Given the description of an element on the screen output the (x, y) to click on. 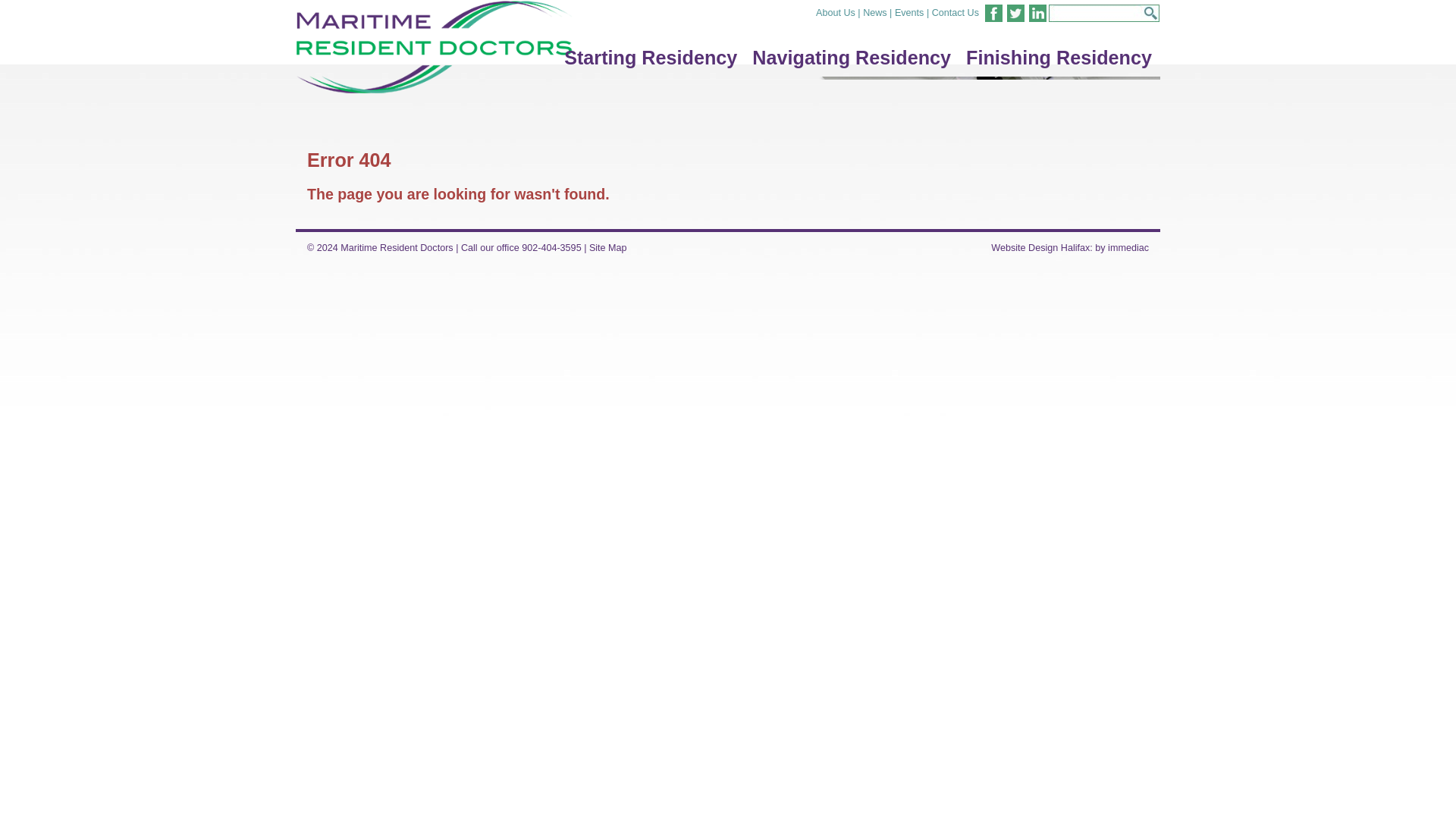
About Us (835, 12)
Events (909, 12)
Website Design Halifax (1040, 247)
Contact Us (954, 12)
Navigating Residency (851, 57)
Site Map (608, 247)
Finishing Residency (1058, 57)
News (874, 12)
Starting Residency (650, 57)
